Given the description of an element on the screen output the (x, y) to click on. 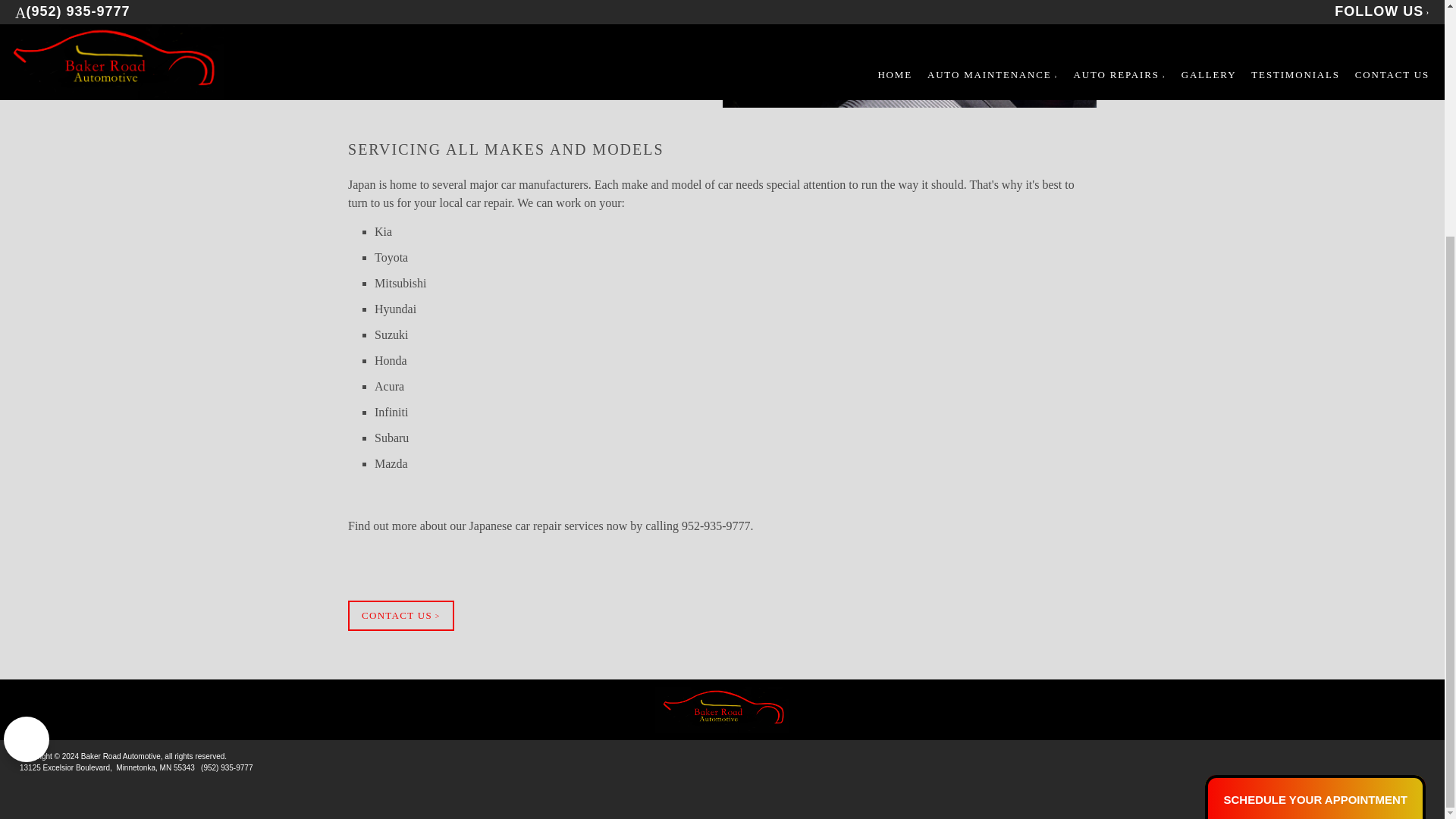
CONTACT US (400, 615)
Baker Road Automotive (722, 709)
SCHEDULE YOUR APPOINTMENT (1315, 478)
